Given the description of an element on the screen output the (x, y) to click on. 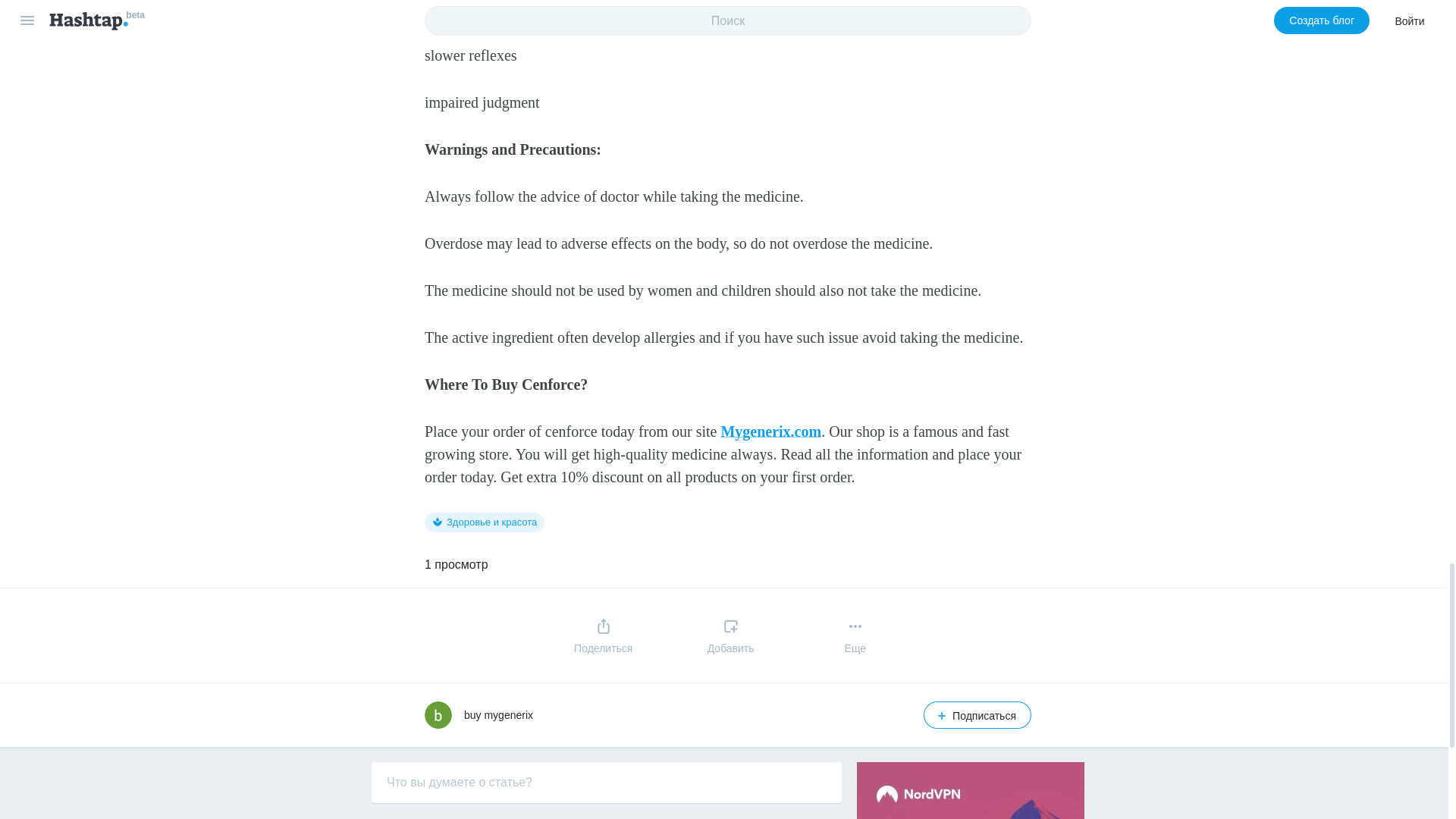
Mygenerix.com (770, 431)
buy mygenerix (498, 715)
